Given the description of an element on the screen output the (x, y) to click on. 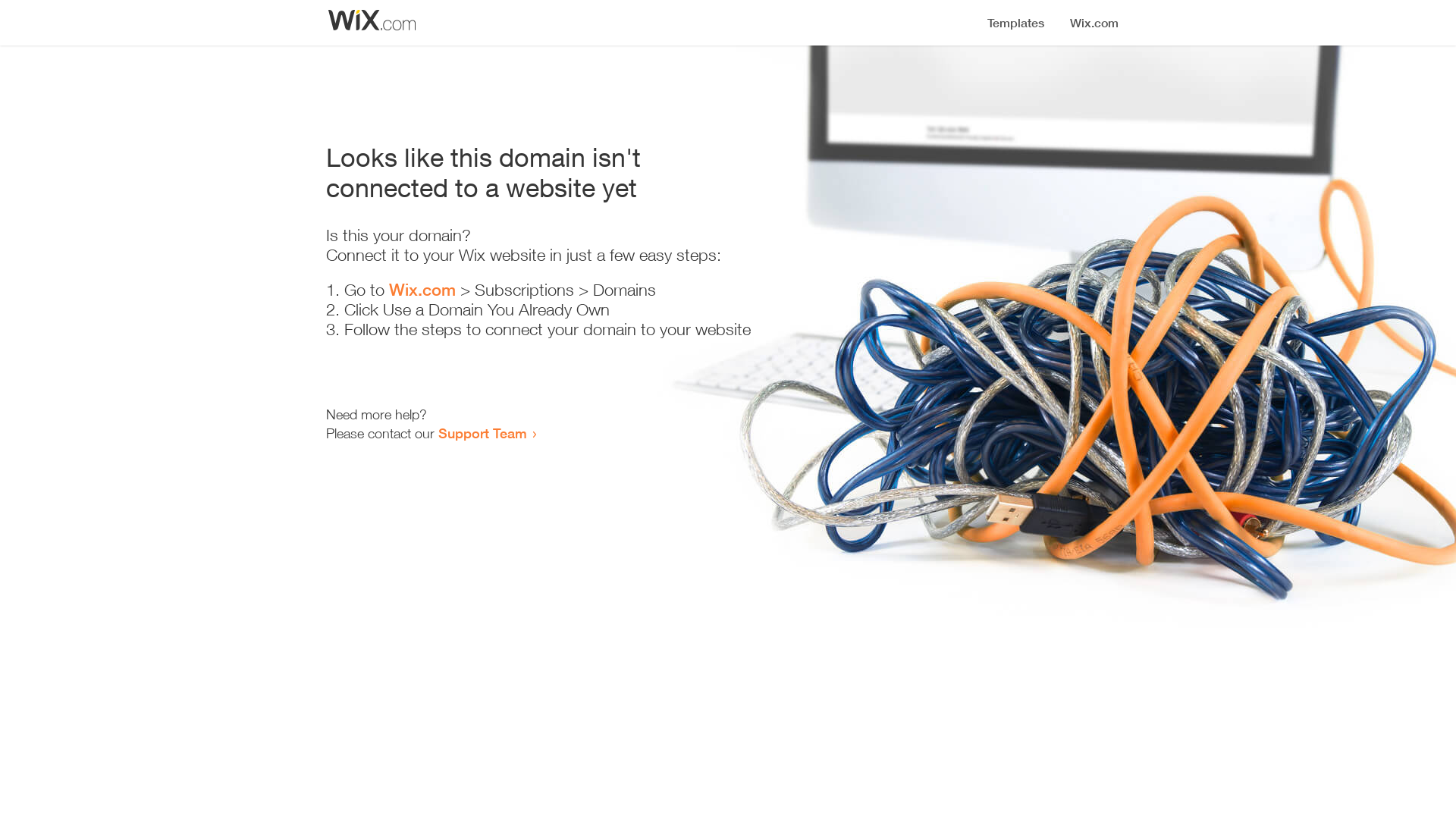
Wix.com Element type: text (422, 289)
Support Team Element type: text (482, 432)
